Given the description of an element on the screen output the (x, y) to click on. 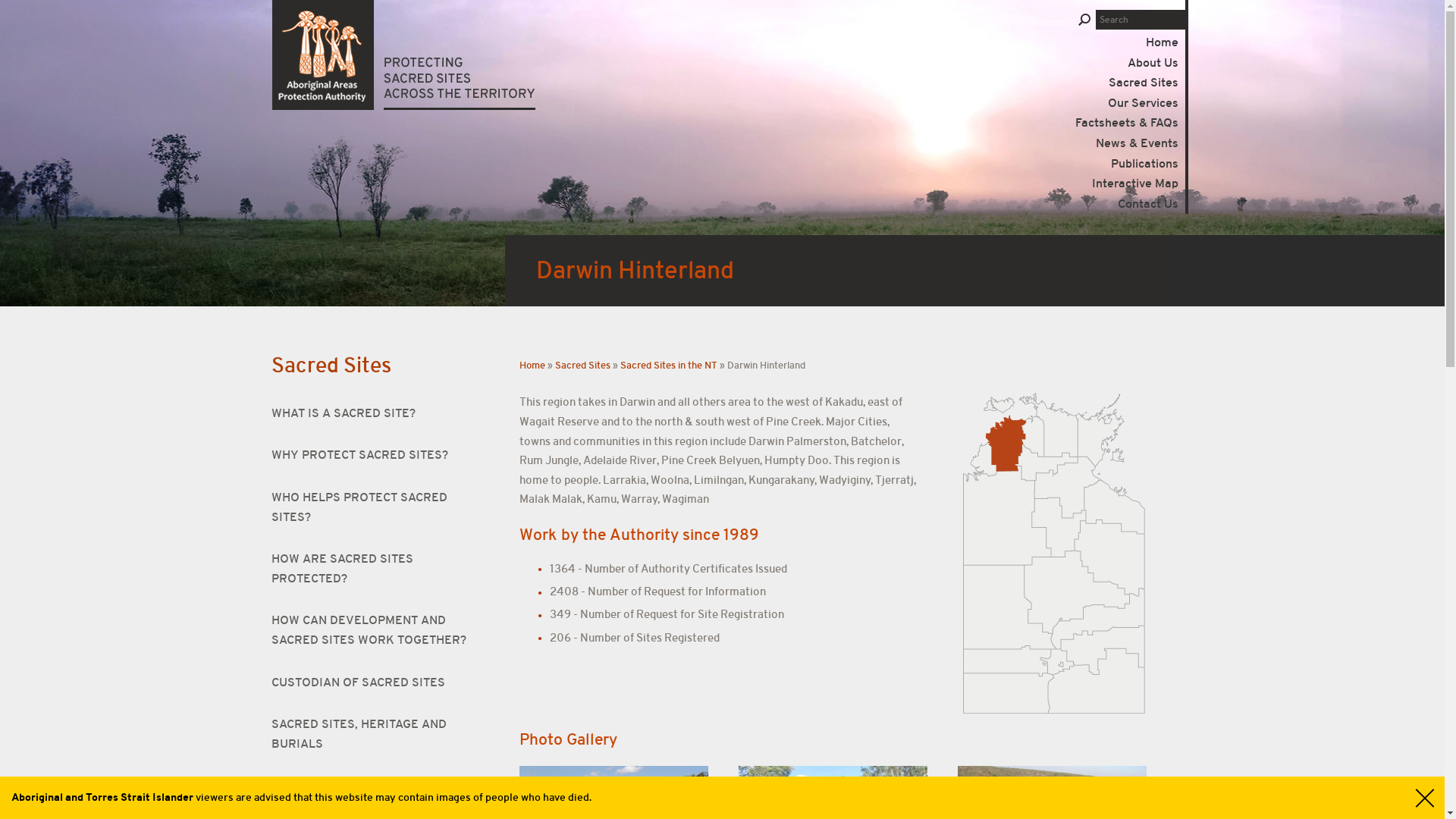
Home Element type: text (1154, 42)
Sacred Sites Element type: text (331, 364)
WHAT IS A SACRED SITE? Element type: text (372, 413)
INTERACTIVE MAP Element type: text (372, 786)
HOW ARE SACRED SITES PROTECTED? Element type: text (372, 568)
Factsheets & FAQs Element type: text (1126, 122)
Sacred Sites in the NT Element type: text (668, 365)
News & Events Element type: text (1137, 143)
WHY PROTECT SACRED SITES? Element type: text (372, 455)
Our Services Element type: text (1143, 102)
WHO HELPS PROTECT SACRED SITES? Element type: text (372, 507)
Interactive Map Element type: text (1135, 183)
Home Element type: text (532, 365)
About Us Element type: text (1153, 62)
Search Element type: text (1084, 20)
HOW CAN DEVELOPMENT AND SACRED SITES WORK TOGETHER? Element type: text (372, 630)
Sacred Sites Element type: text (582, 365)
Sacred Sites Element type: text (1143, 82)
Skip to main content Element type: text (57, 0)
Return to homepage Element type: hover (403, 54)
Contact Us Element type: text (1148, 203)
CUSTODIAN OF SACRED SITES Element type: text (372, 683)
Publications Element type: text (1144, 163)
SACRED SITES, HERITAGE AND BURIALS Element type: text (372, 734)
Enter the terms you wish to search for. Element type: hover (1140, 19)
